Given the description of an element on the screen output the (x, y) to click on. 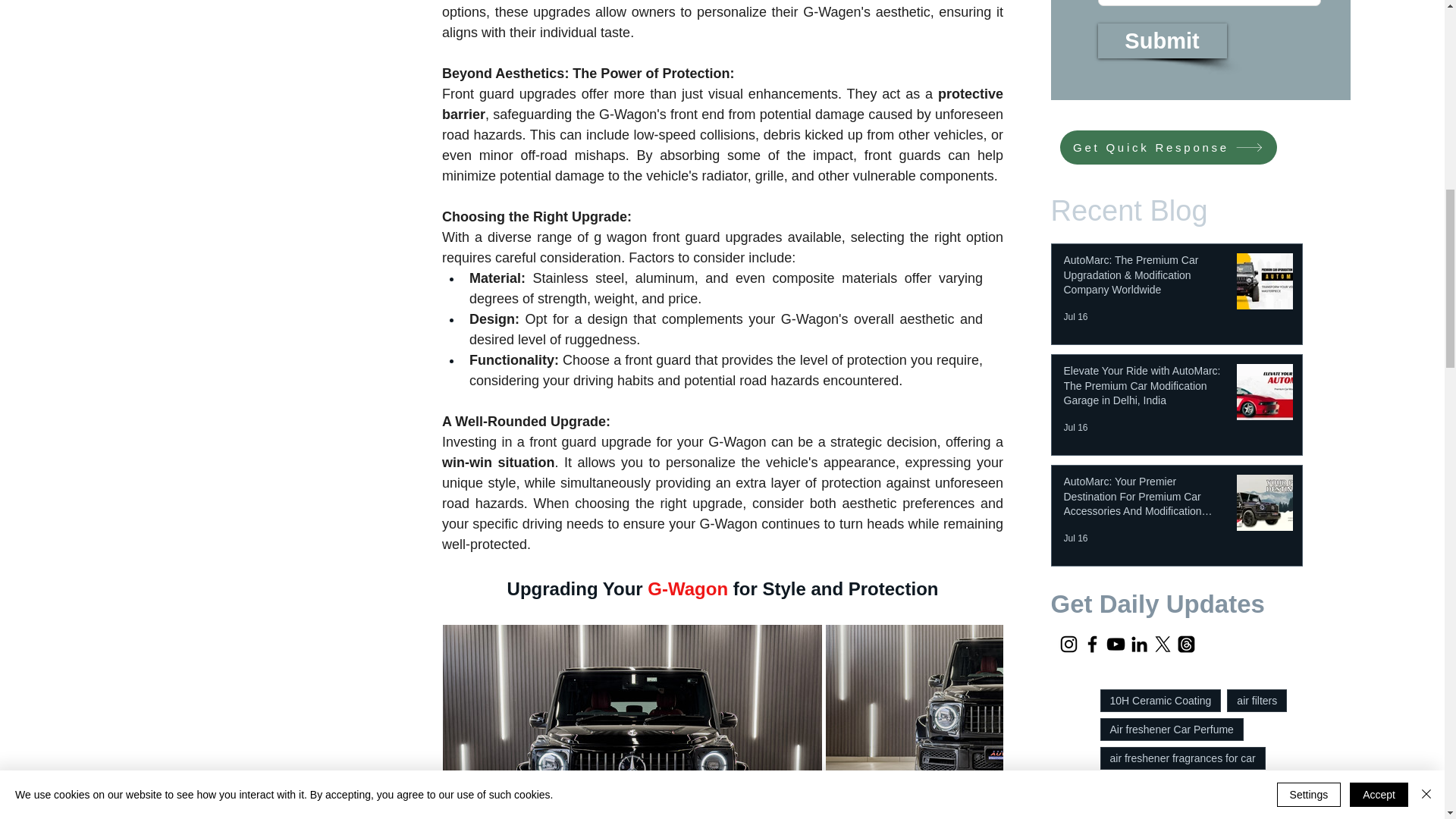
Jul 16 (1074, 538)
Jul 16 (1074, 427)
Jul 16 (1074, 317)
